Given the description of an element on the screen output the (x, y) to click on. 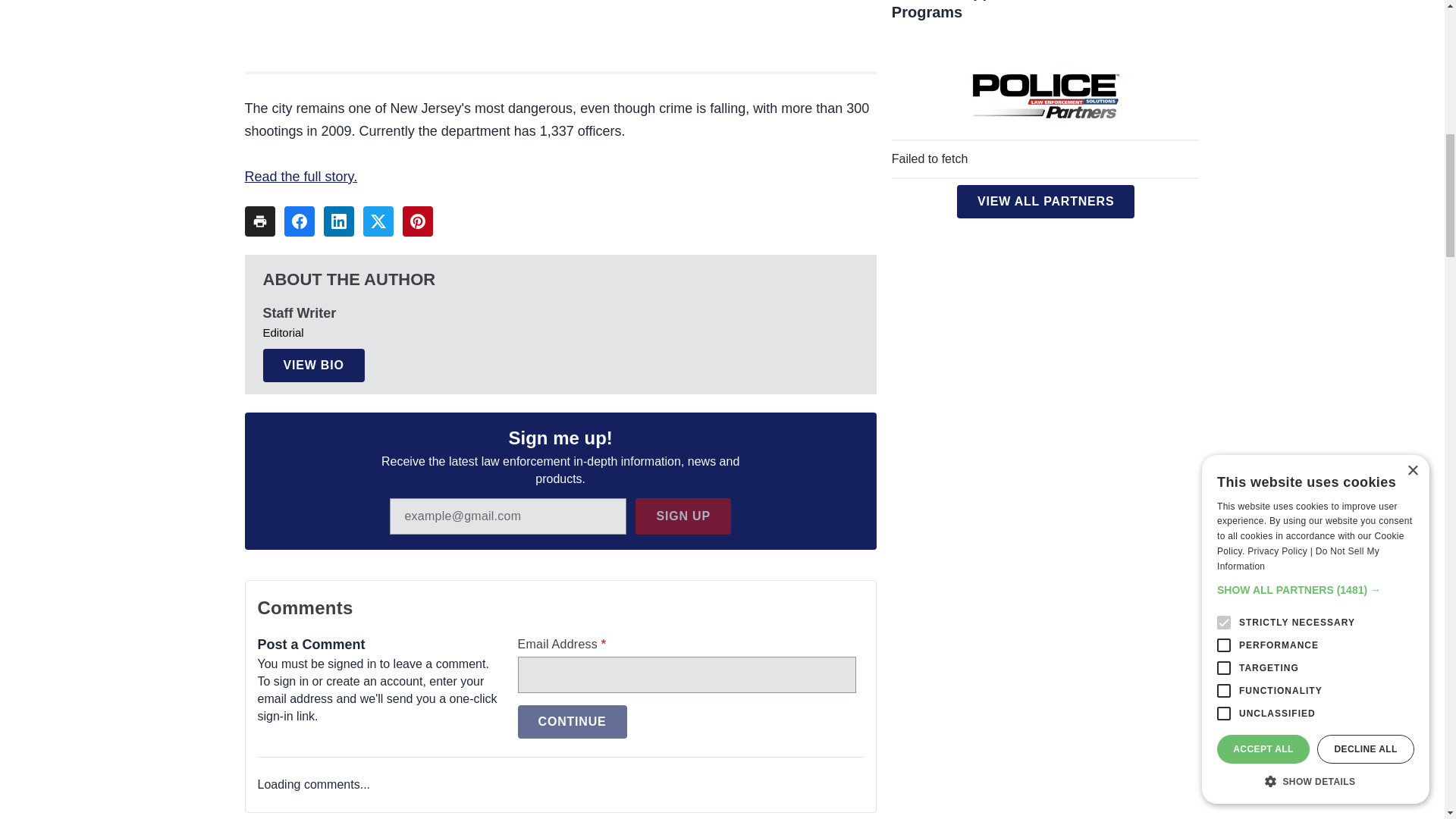
Share To twitter (377, 221)
Share To linkedin (338, 221)
3rd party ad content (560, 24)
Share To facebook (298, 221)
Share To print (259, 221)
